Given the description of an element on the screen output the (x, y) to click on. 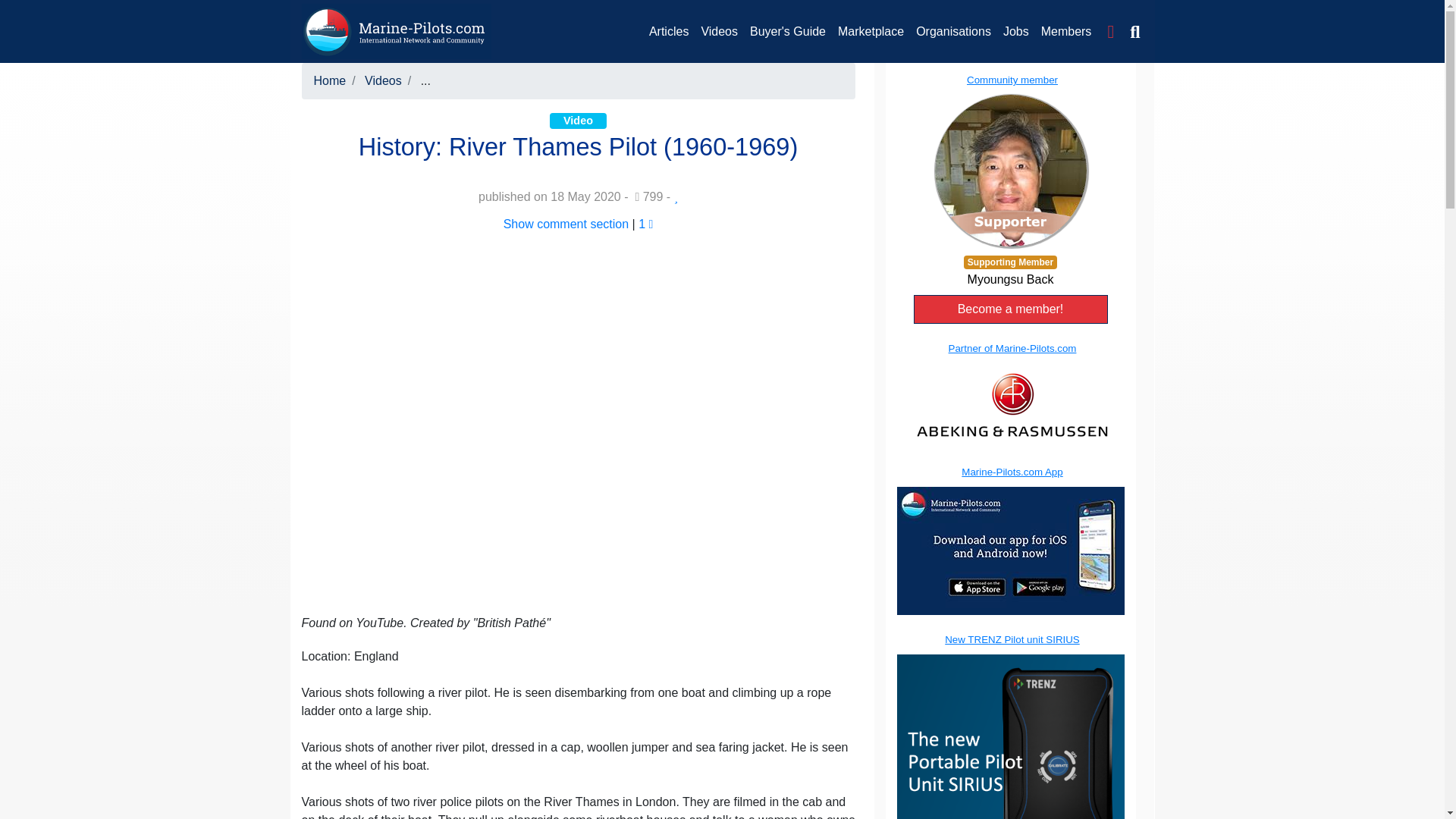
Show comment section (565, 223)
Articles (668, 31)
Jobs (1016, 31)
Marketplace (870, 31)
Community member (1009, 159)
Videos (383, 80)
Home (330, 80)
Organisations (953, 31)
799 (648, 196)
all-time page views (648, 196)
